Given the description of an element on the screen output the (x, y) to click on. 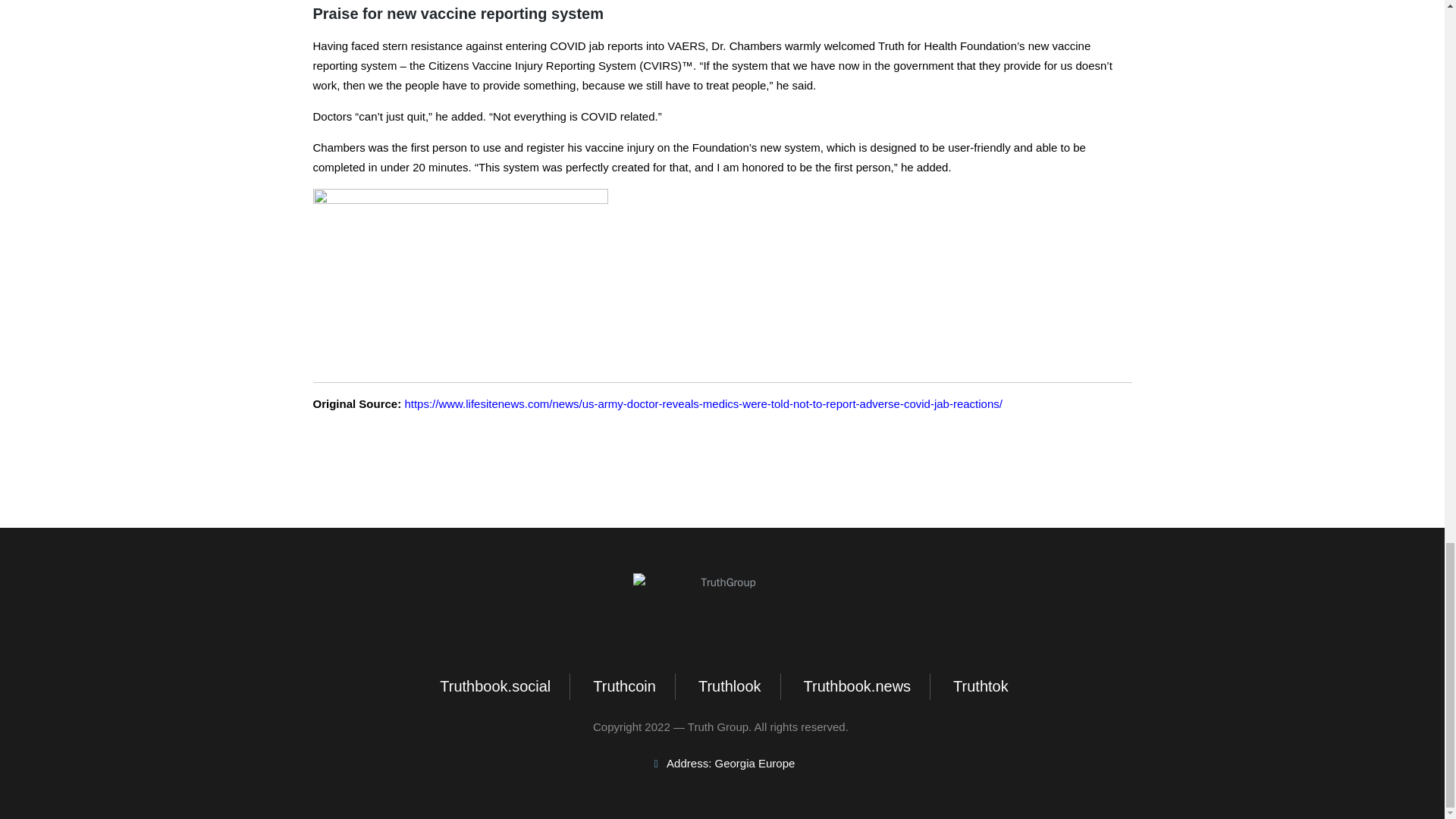
Truthbook.news (855, 686)
Truthtok (979, 686)
Truthlook (727, 686)
Truthcoin (622, 686)
Truthbook.social (492, 686)
